Given the description of an element on the screen output the (x, y) to click on. 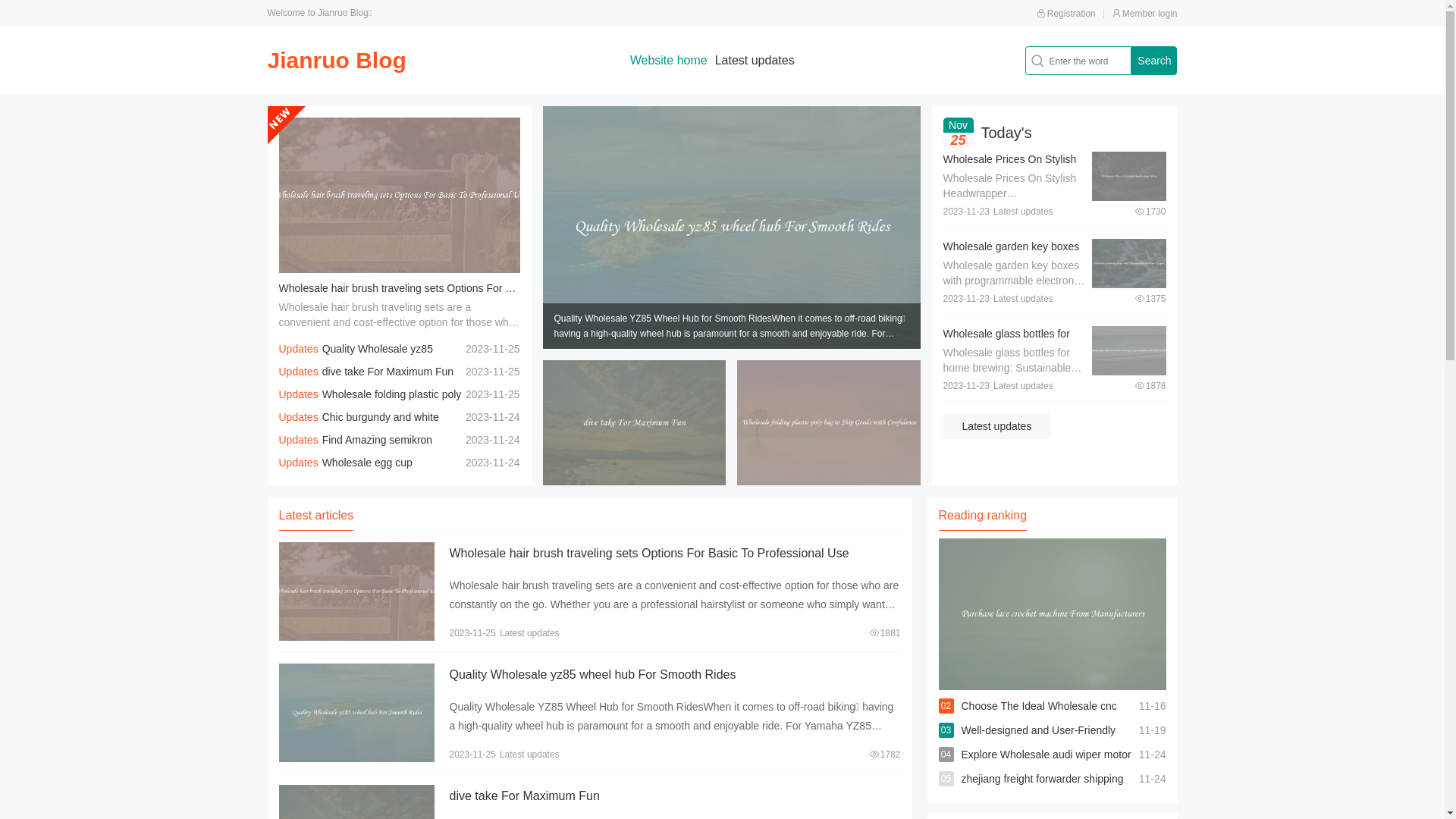
Wholesale egg cup decoration Including Cutters and Peelers Element type: text (374, 473)
Latest updates Element type: text (754, 59)
dive take For Maximum Fun Element type: text (388, 371)
Jianruo Blog Element type: text (335, 59)
Latest updates Element type: text (997, 426)
dive take For Maximum Fun Element type: text (523, 795)
Find Amazing semikron skd160/16 for Enhanced Security Element type: text (357, 450)
Wholesale Prices On Stylish headwrapper Buys Element type: text (1009, 166)
Quality Wholesale yz85 wheel hub For Smooth Rides Element type: text (591, 674)
Quality Wholesale yz85 wheel hub For Smooth Rides Element type: text (356, 359)
Member login Element type: text (1144, 13)
Registration Element type: text (1065, 13)
Well-designed and User-Friendly flower wire rings Element type: text (1038, 742)
Search Element type: text (1153, 60)
Choose The Ideal Wholesale cnc slit machine Element type: text (1039, 717)
Website home Element type: text (668, 59)
